Given the description of an element on the screen output the (x, y) to click on. 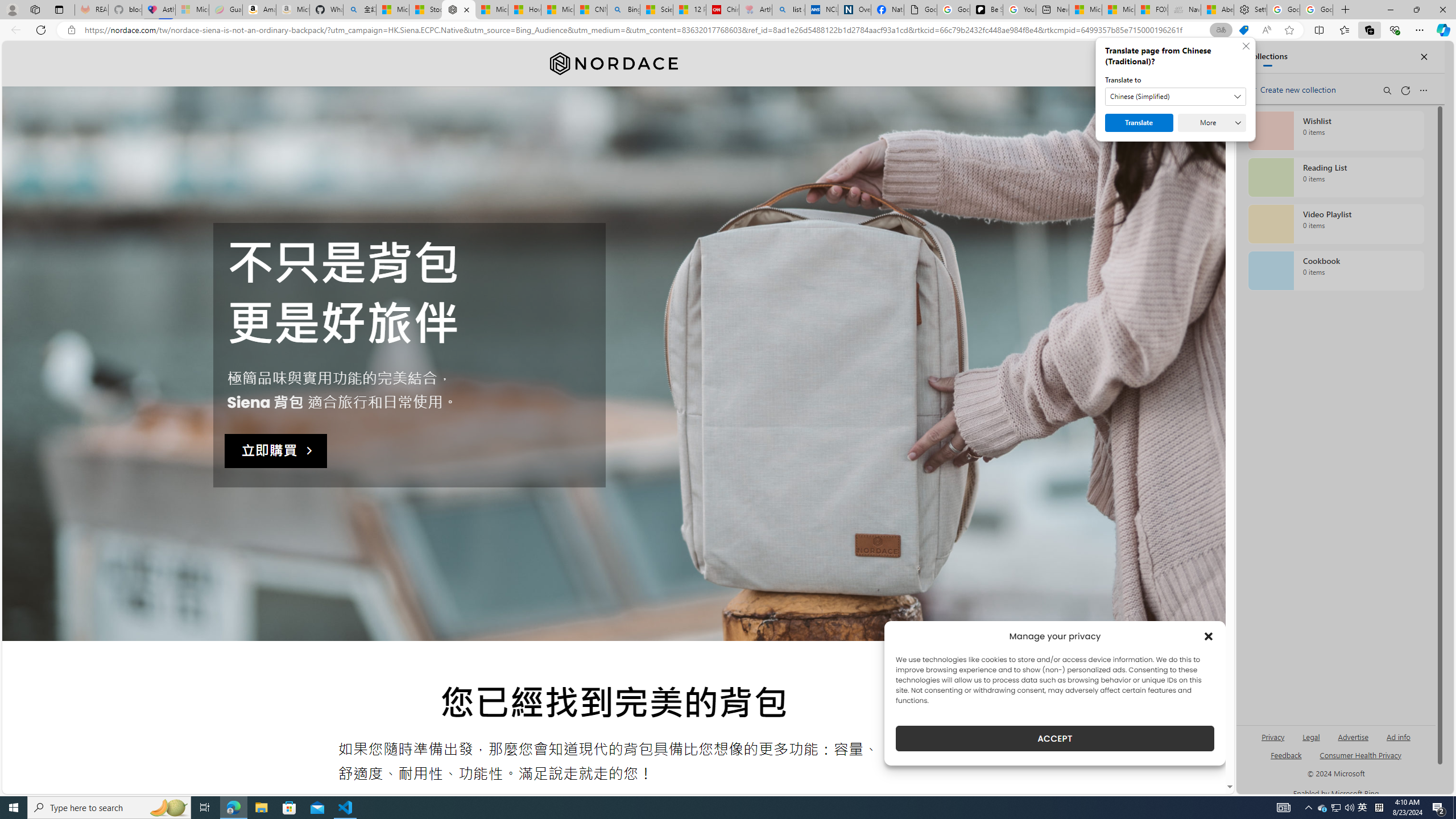
AutomationID: genId96 (1285, 759)
ACCEPT (1054, 738)
AutomationID: sb_feedback (1286, 754)
